Given the description of an element on the screen output the (x, y) to click on. 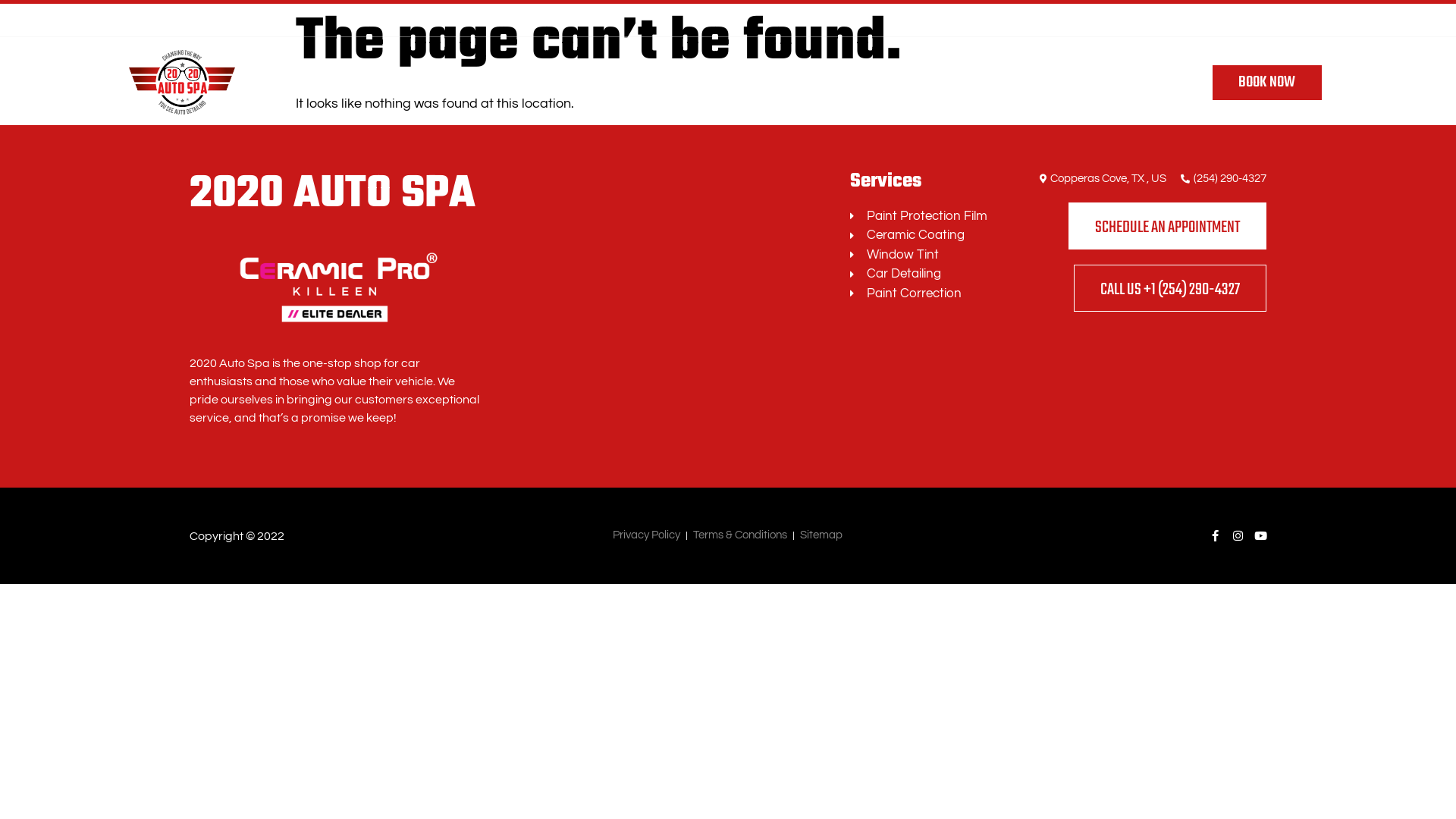
Car Detailing Element type: text (924, 274)
WINDOW TINT Element type: text (549, 82)
CONTACT Element type: text (1161, 82)
Copperas Cove, TX , US Element type: text (1028, 19)
Privacy Policy Element type: text (646, 535)
BOOK NOW Element type: text (1266, 82)
CALL US +1 (254) 290-4327 Element type: text (1169, 287)
Ceramic Coating Element type: text (924, 235)
Paint Protection Film Element type: text (924, 216)
ULTIMATE ARMOR Element type: text (861, 82)
HOME Element type: text (313, 82)
ABOUT Element type: text (1015, 82)
(254) 290-4327 Element type: text (1150, 19)
Window Tint Element type: text (924, 255)
PROJECTS Element type: text (1087, 82)
CAR DETAILING Element type: text (644, 82)
CERAMIC COATING Element type: text (446, 82)
PAINT CORRECTION Element type: text (749, 82)
Paint Correction Element type: text (924, 294)
TESLA Element type: text (949, 82)
Terms & Conditions Element type: text (740, 535)
(254) 290-4327 Element type: text (1222, 179)
PPF Element type: text (366, 82)
SCHEDULE AN APPOINTMENT Element type: text (1167, 225)
Copperas Cove, TX , US Element type: text (1100, 179)
Sitemap Element type: text (821, 535)
